Given the description of an element on the screen output the (x, y) to click on. 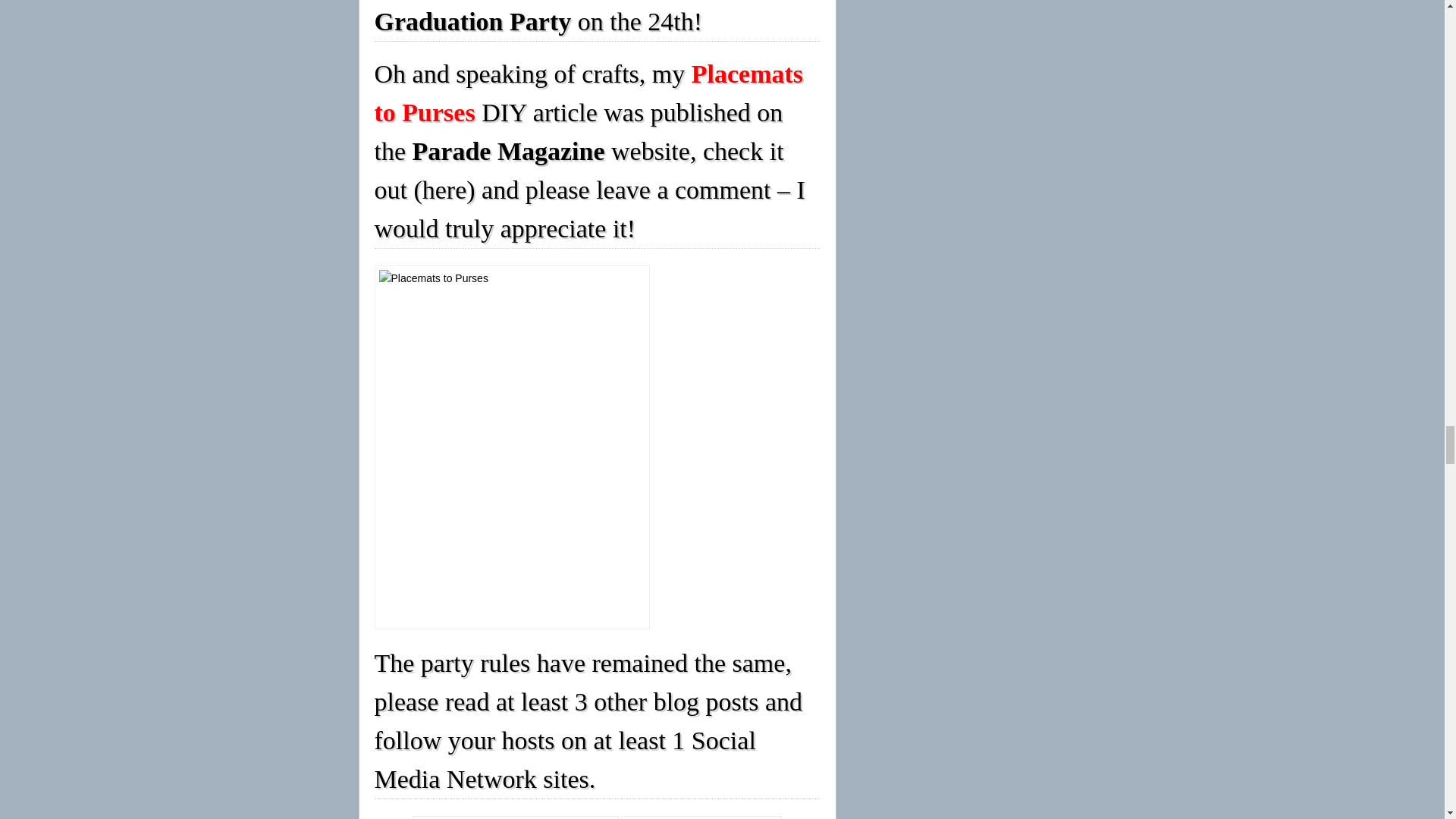
here (444, 189)
